Given the description of an element on the screen output the (x, y) to click on. 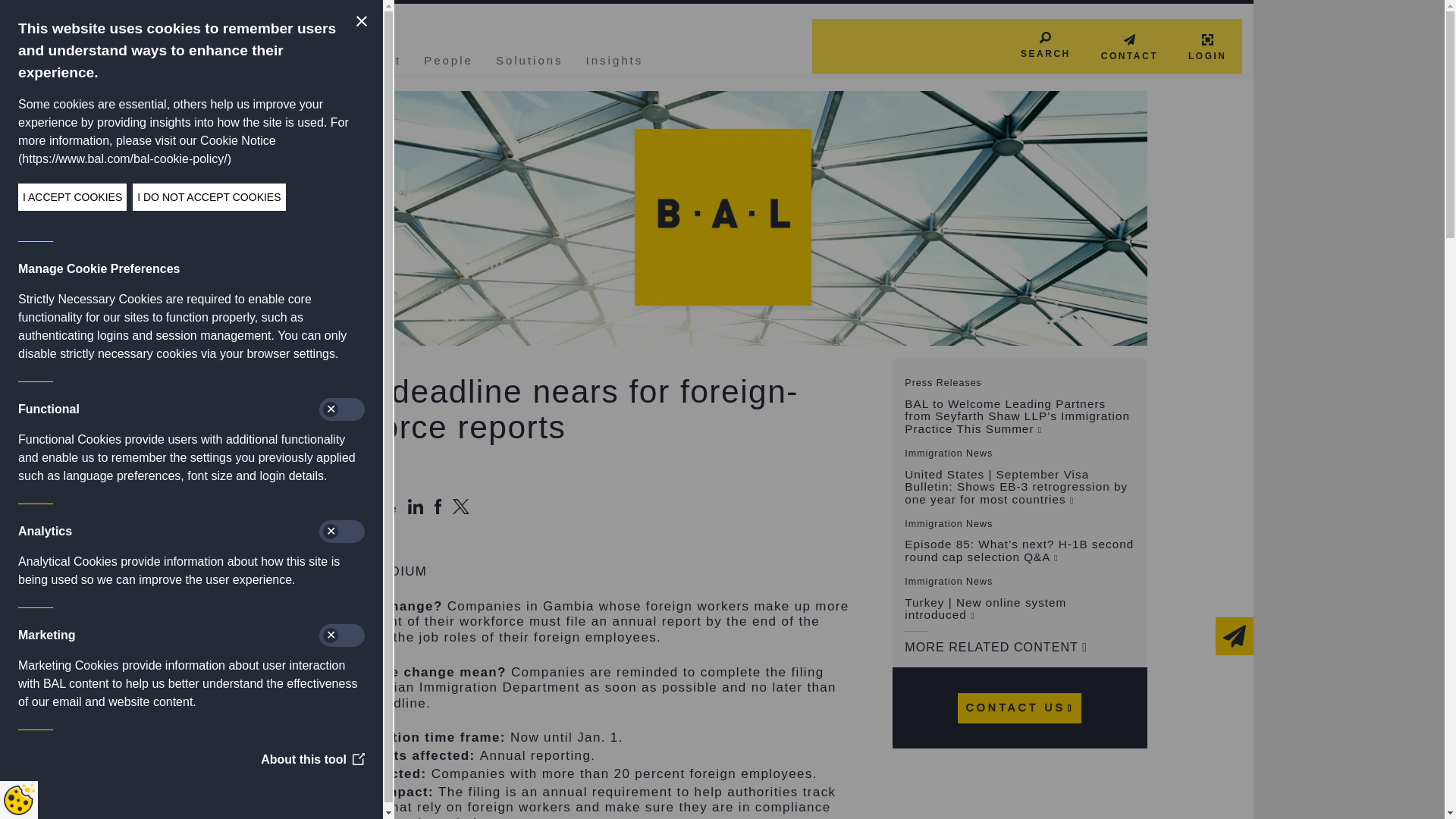
People (448, 58)
Solutions (529, 58)
About (380, 58)
Insights (614, 58)
